Given the description of an element on the screen output the (x, y) to click on. 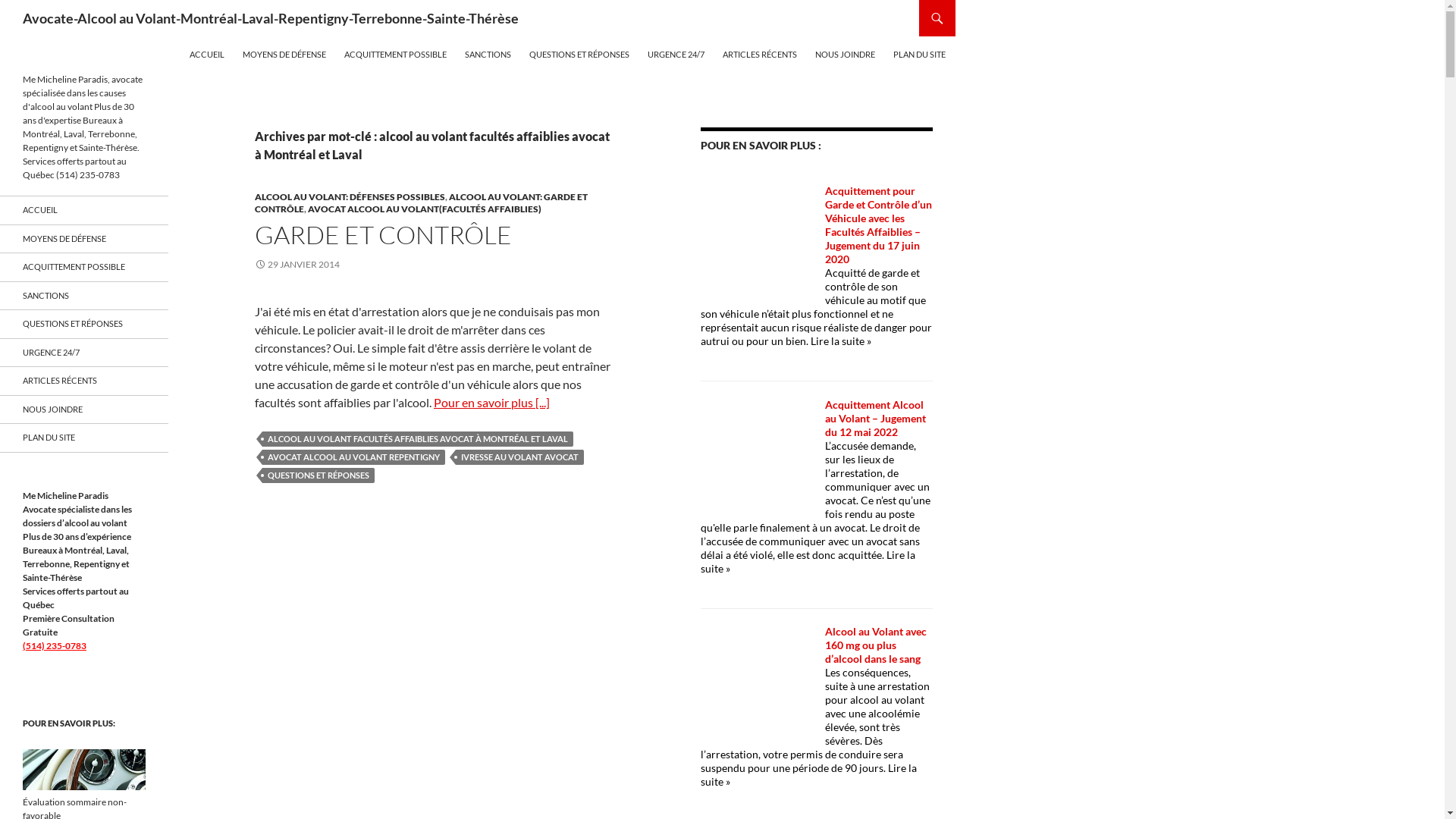
ACCUEIL Element type: text (206, 54)
ACQUITTEMENT POSSIBLE Element type: text (395, 54)
PLAN DU SITE Element type: text (84, 437)
ACQUITTEMENT POSSIBLE Element type: text (84, 267)
AVOCAT ALCOOL AU VOLANT REPENTIGNY Element type: text (353, 456)
PLAN DU SITE Element type: text (919, 54)
SANCTIONS Element type: text (84, 296)
(514) 235-0783 Element type: text (54, 645)
NOUS JOINDRE Element type: text (845, 54)
Recherche Element type: text (3, 0)
SANCTIONS Element type: text (487, 54)
URGENCE 24/7 Element type: text (84, 352)
Pour en savoir plus [...] Element type: text (491, 402)
URGENCE 24/7 Element type: text (675, 54)
ACCUEIL Element type: text (84, 210)
IVRESSE AU VOLANT AVOCAT Element type: text (519, 456)
NOUS JOINDRE Element type: text (84, 409)
ALLER AU CONTENU Element type: text (189, 36)
29 JANVIER 2014 Element type: text (296, 263)
